Given the description of an element on the screen output the (x, y) to click on. 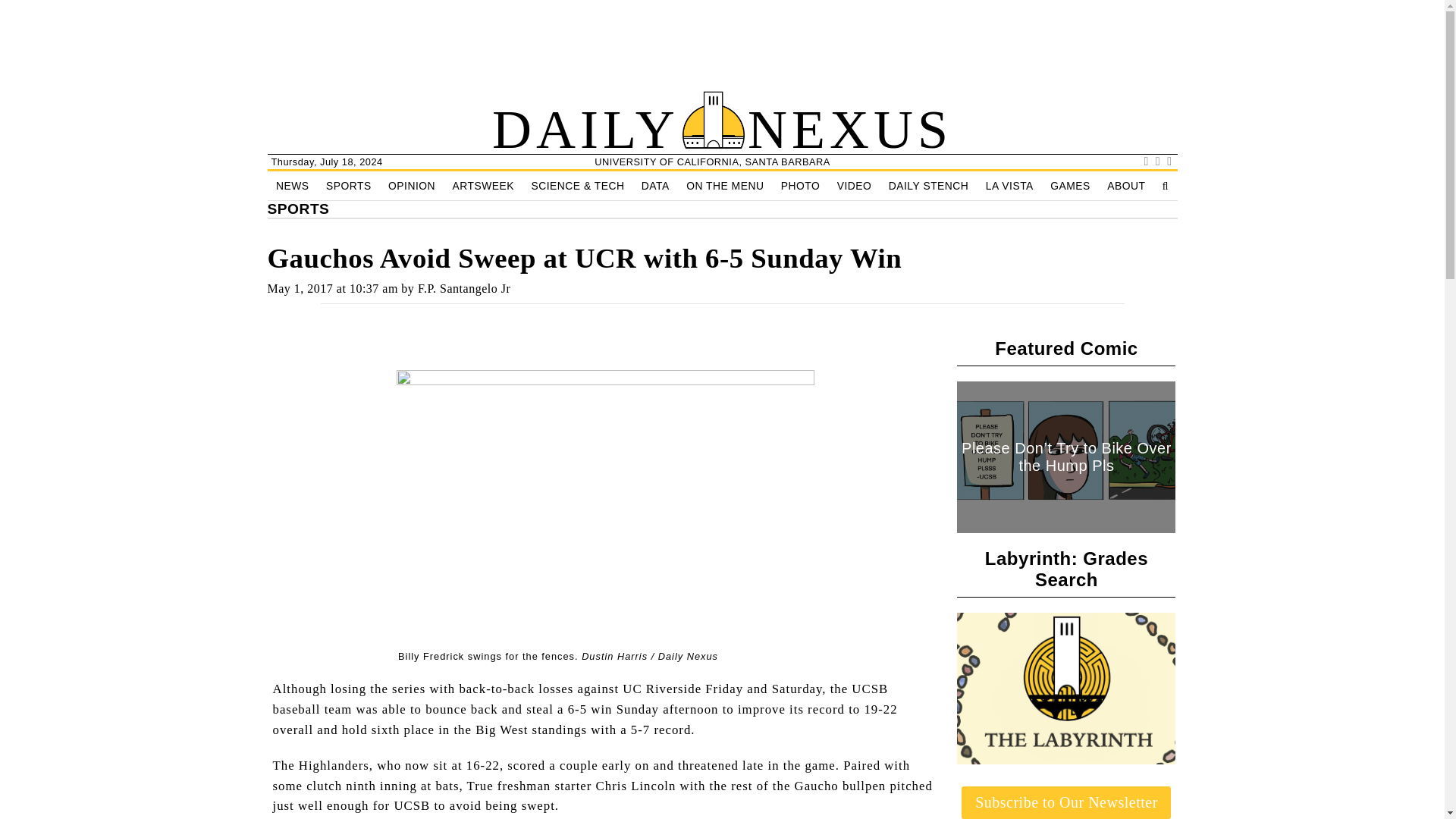
Posts by F.P. Santangelo Jr (464, 287)
